Given the description of an element on the screen output the (x, y) to click on. 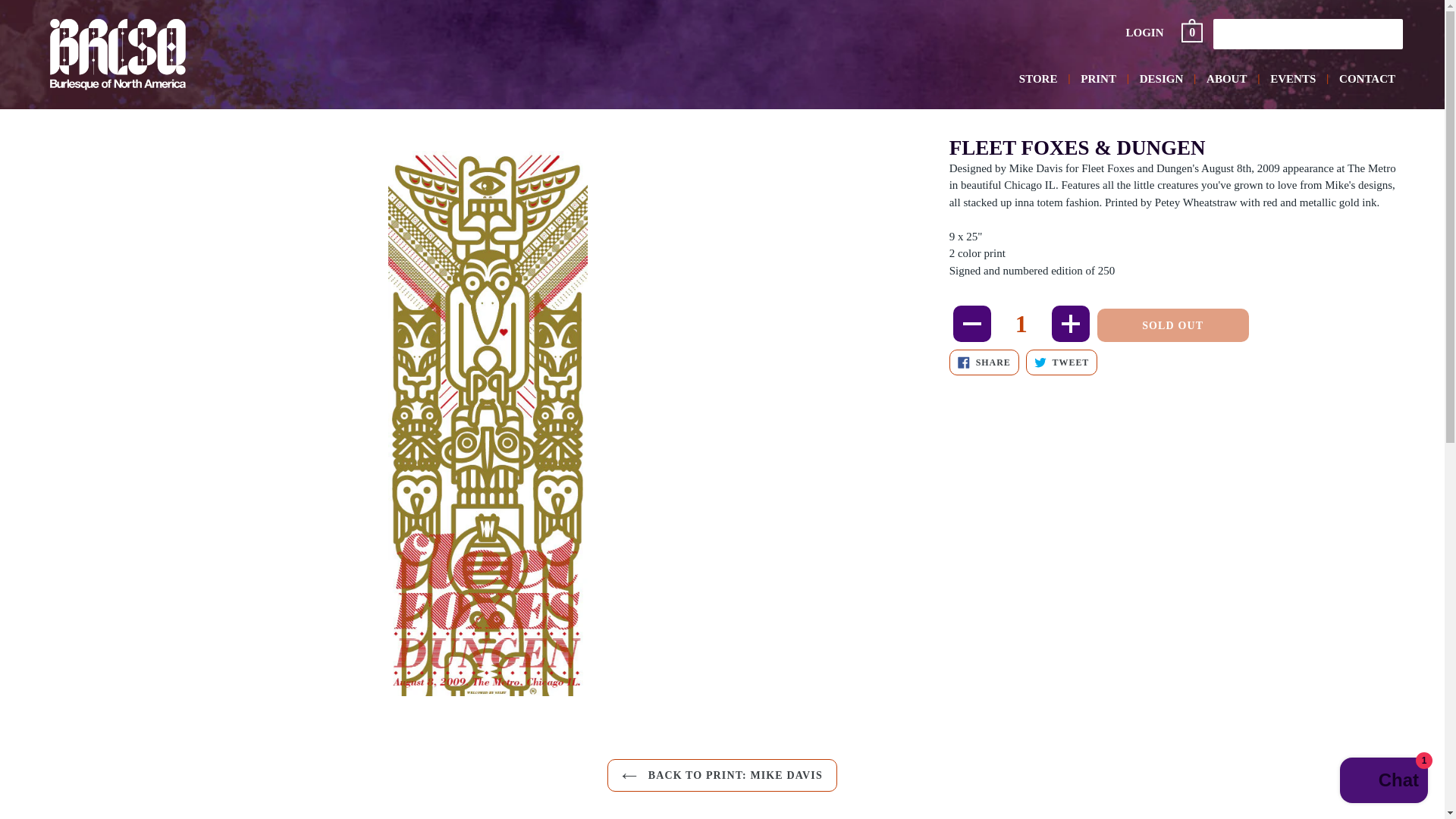
STORE (984, 362)
DESIGN (1038, 78)
LOGIN (1161, 78)
Shopify online store chat (1061, 362)
EVENTS (1145, 32)
1 (1383, 781)
Submit (1292, 78)
Tweet on Twitter (1021, 323)
Share on Facebook (1223, 33)
CONTACT (1061, 362)
BACK TO PRINT: MIKE DAVIS (984, 362)
SOLD OUT (1192, 32)
